Given the description of an element on the screen output the (x, y) to click on. 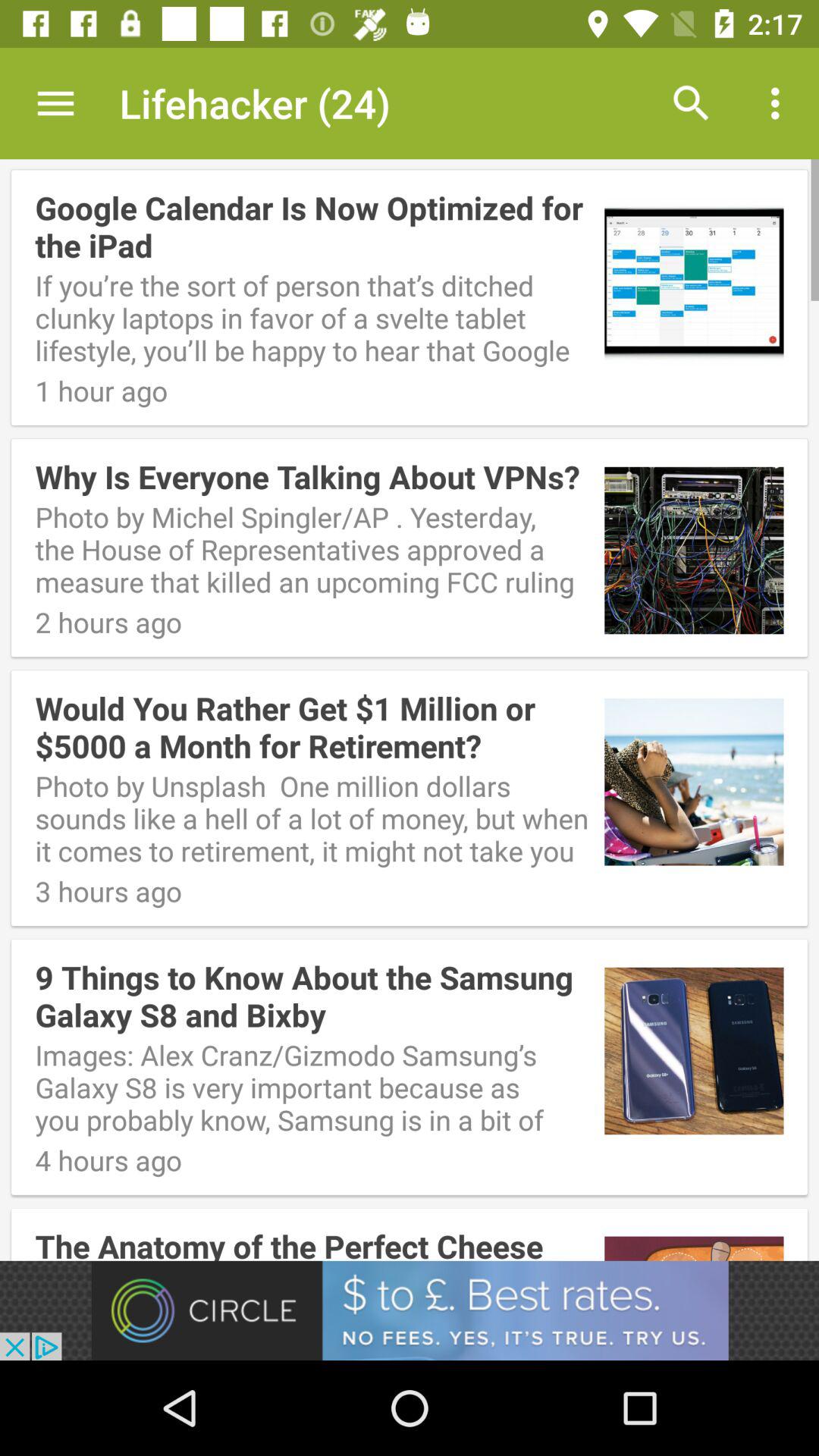
advertisement bar (409, 1310)
